Given the description of an element on the screen output the (x, y) to click on. 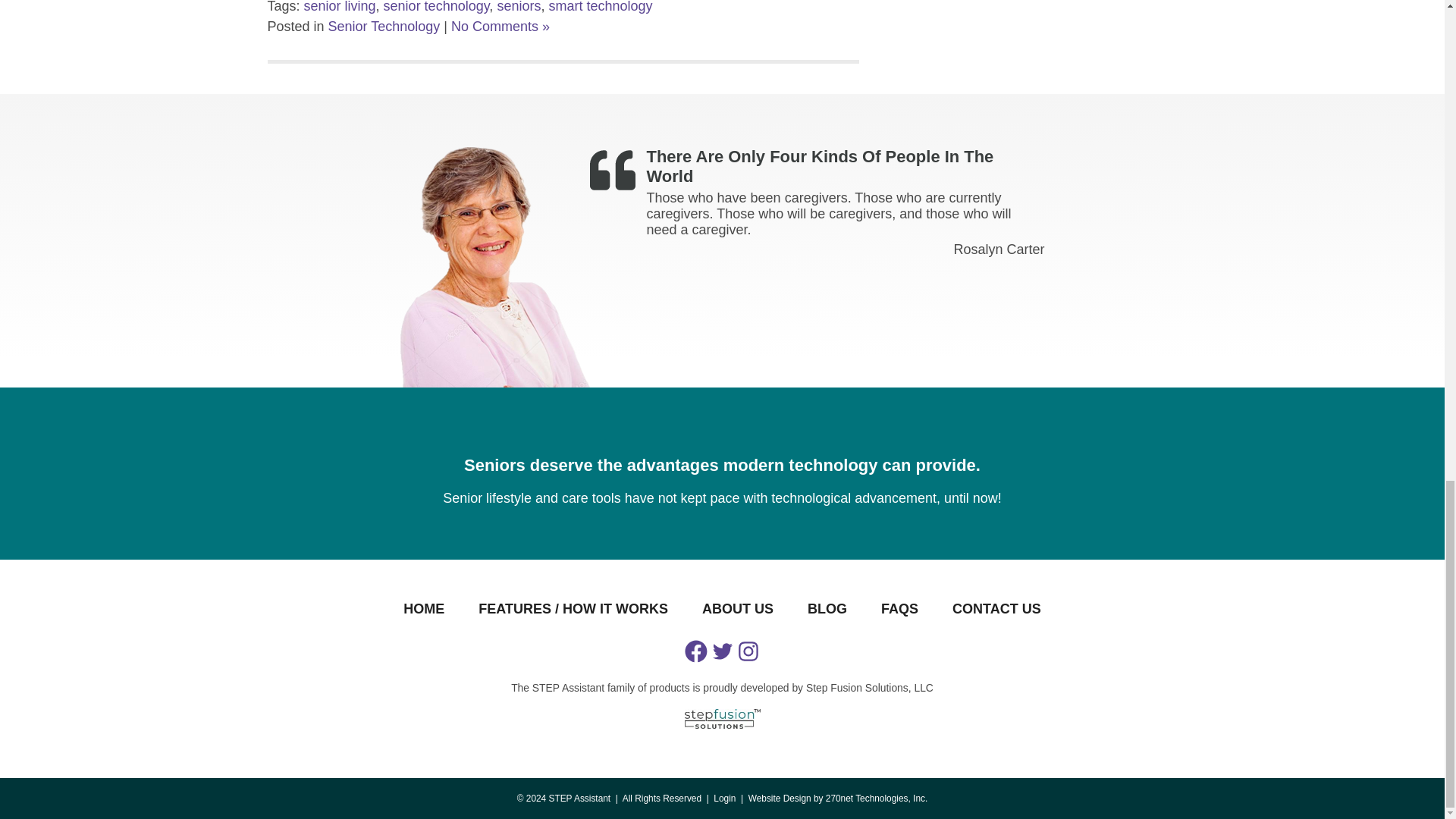
senior technology (436, 6)
seniors (518, 6)
senior living (339, 6)
